Given the description of an element on the screen output the (x, y) to click on. 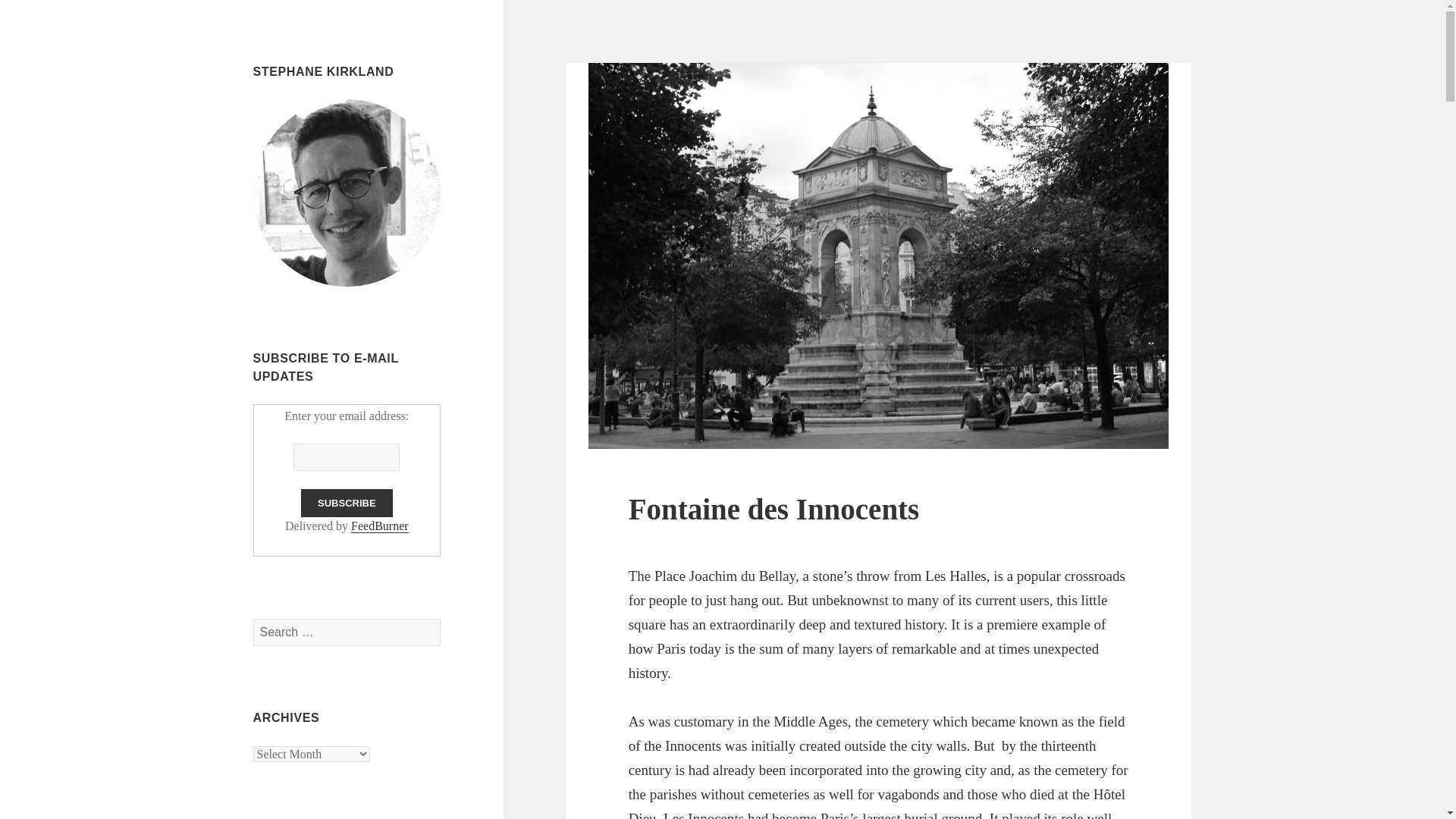
FeedBurner (379, 526)
Subscribe (347, 502)
Subscribe (347, 502)
